Given the description of an element on the screen output the (x, y) to click on. 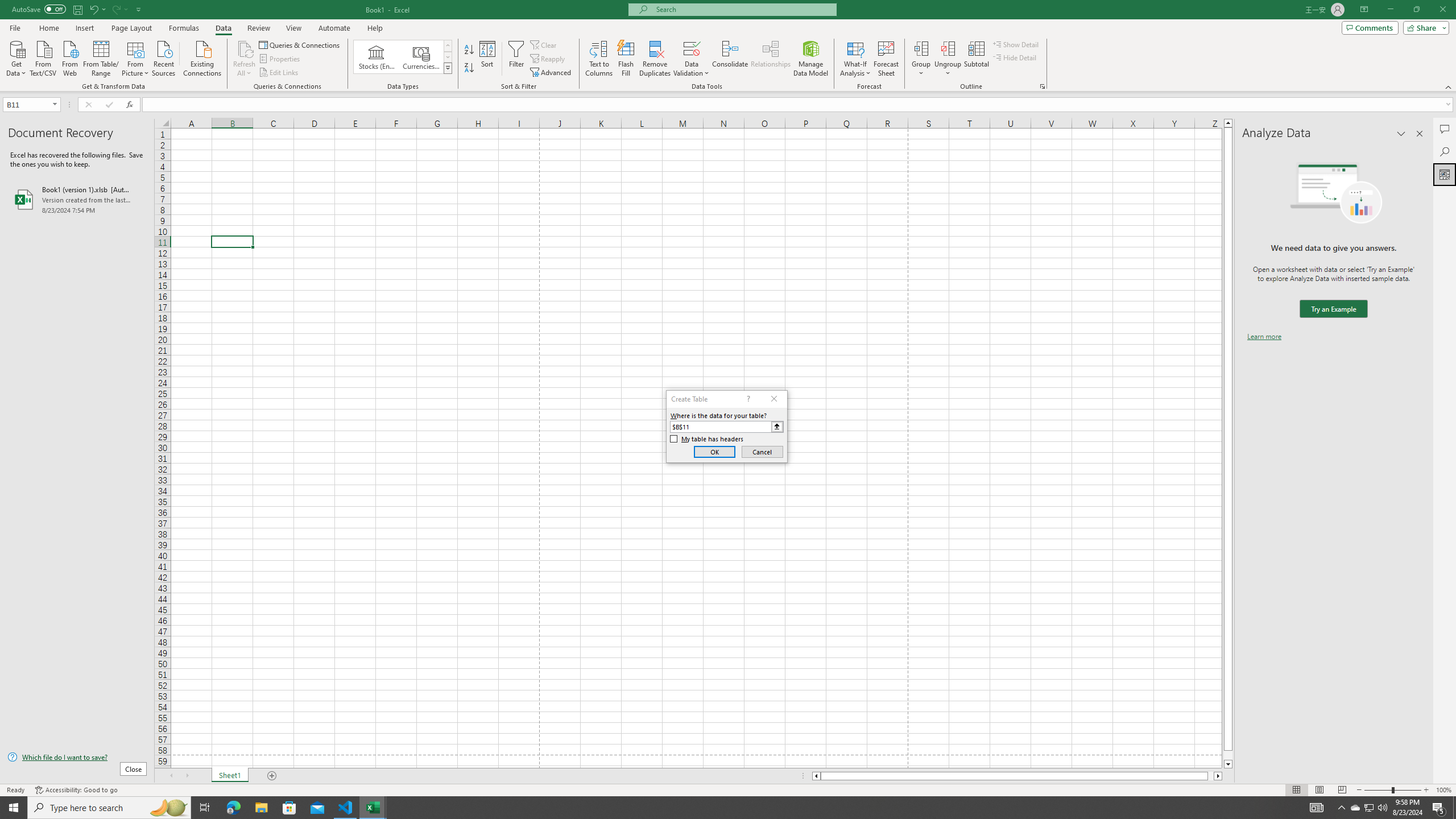
From Table/Range (100, 57)
What-If Analysis (855, 58)
Forecast Sheet (885, 58)
From Text/CSV (43, 57)
Subtotal (976, 58)
